Given the description of an element on the screen output the (x, y) to click on. 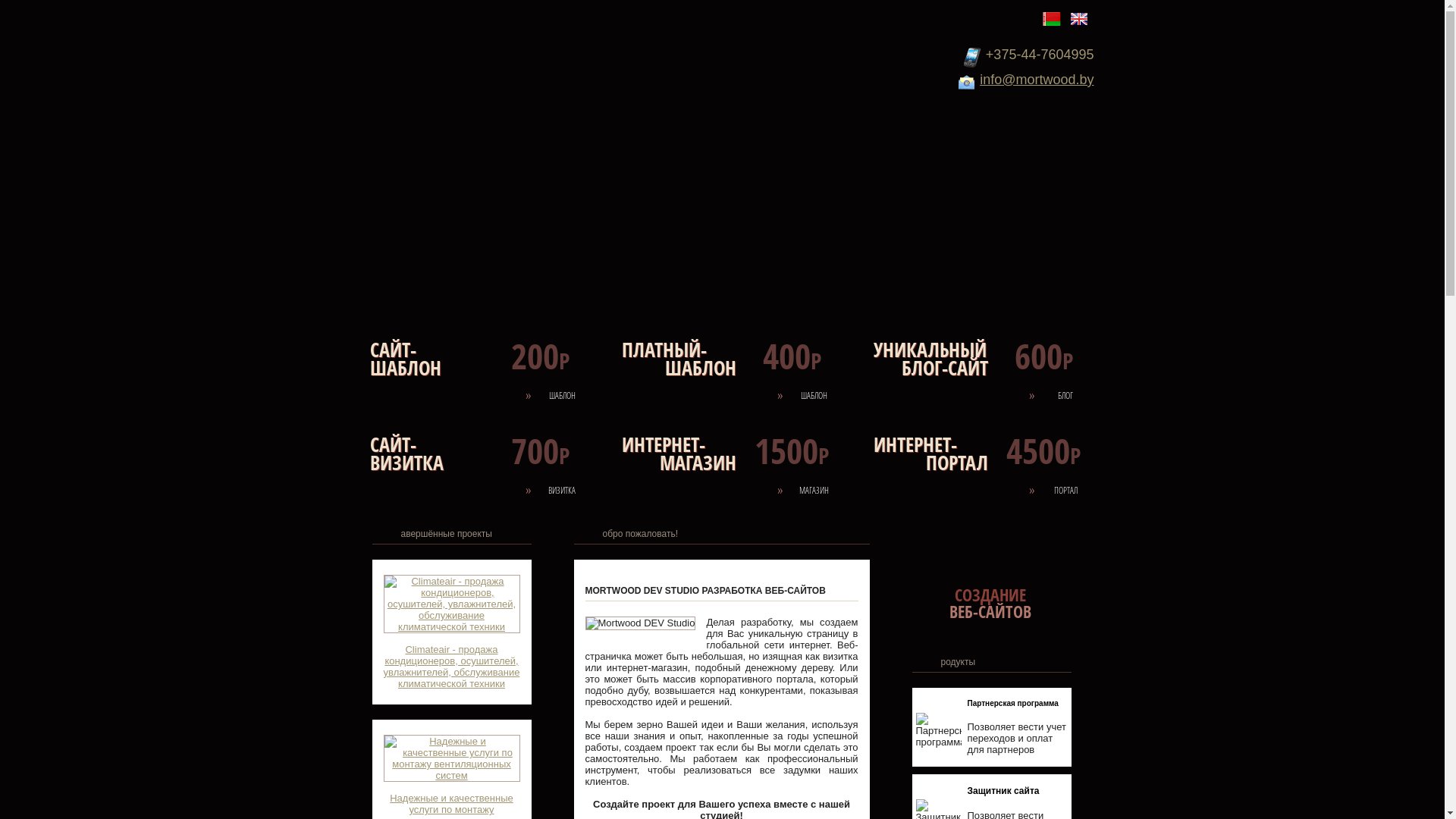
info@mortwood.by Element type: text (1036, 79)
English Element type: hover (1078, 18)
Belarus Element type: hover (1051, 18)
